Given the description of an element on the screen output the (x, y) to click on. 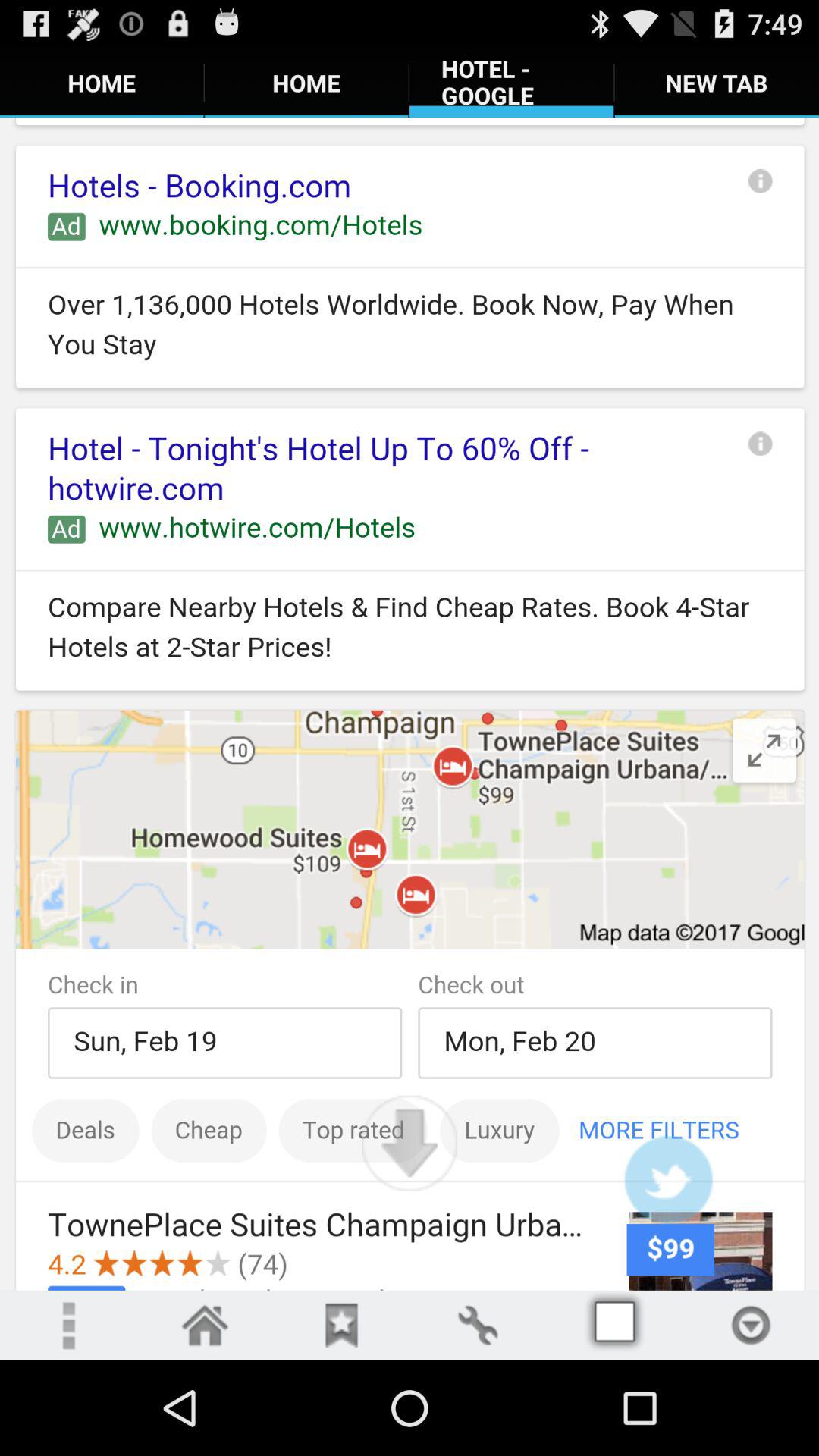
twitter user (668, 1179)
